Given the description of an element on the screen output the (x, y) to click on. 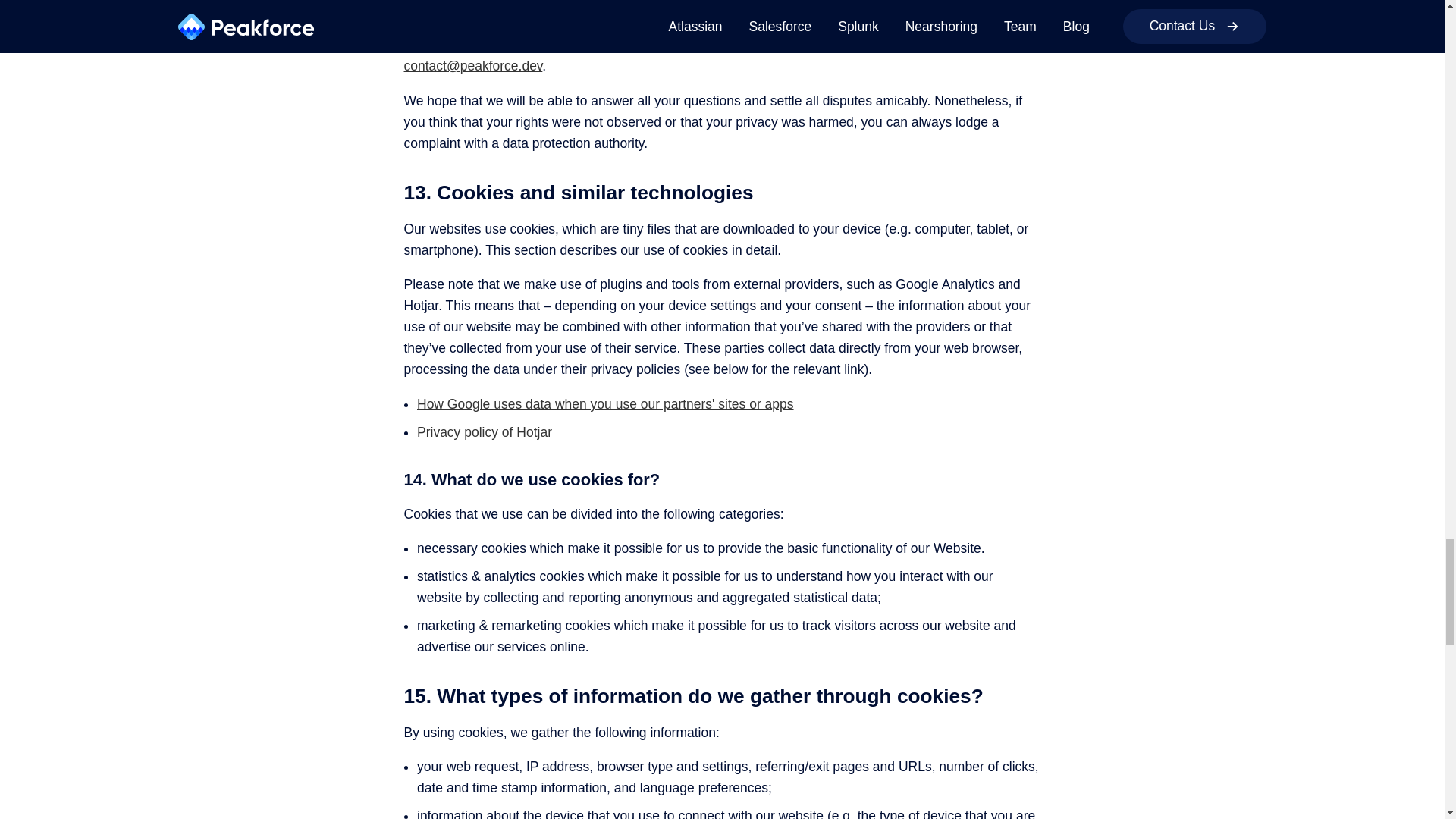
Privacy policy of Hotjar (483, 432)
